Given the description of an element on the screen output the (x, y) to click on. 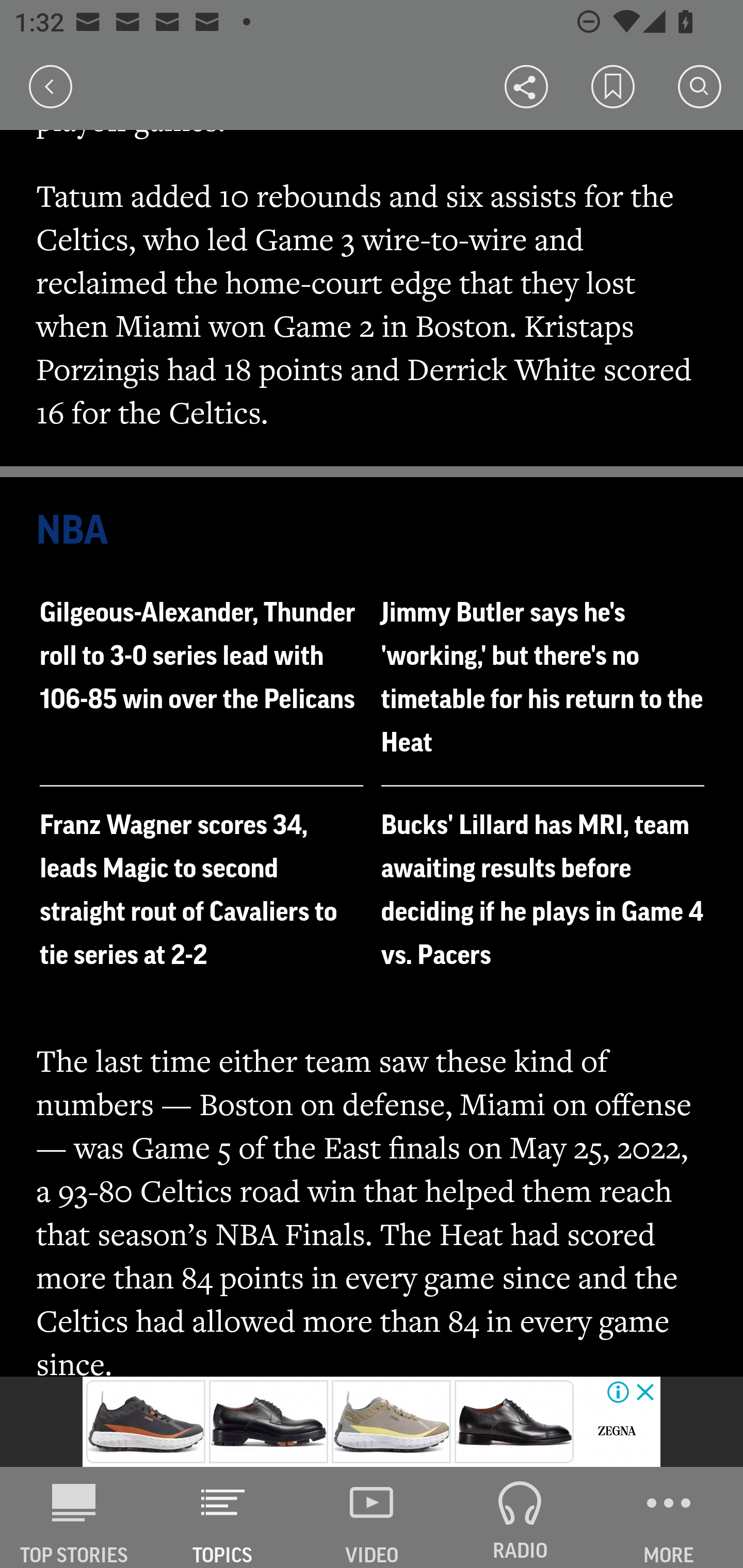
NBA (372, 531)
AP News TOP STORIES (74, 1517)
TOPICS (222, 1517)
VIDEO (371, 1517)
RADIO (519, 1517)
MORE (668, 1517)
